Given the description of an element on the screen output the (x, y) to click on. 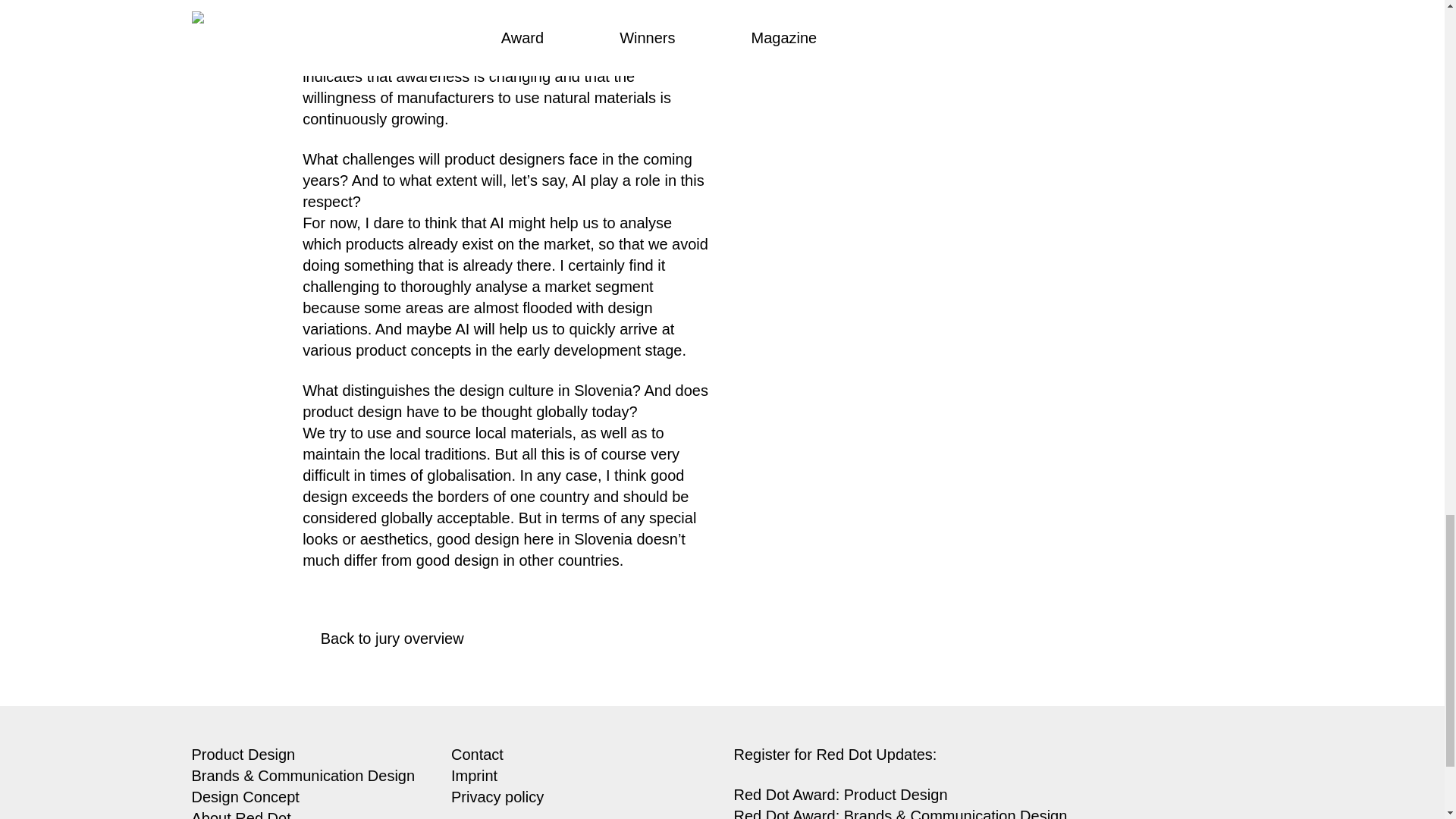
Red Dot Award: Product Design (840, 794)
Back to jury overview (377, 638)
Product Design (242, 754)
